Given the description of an element on the screen output the (x, y) to click on. 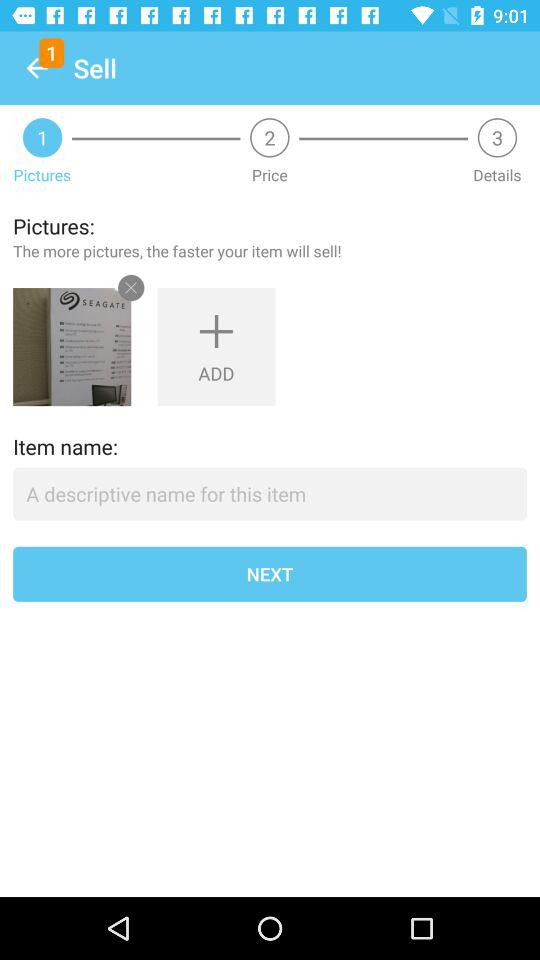
launch icon next to add (72, 347)
